Given the description of an element on the screen output the (x, y) to click on. 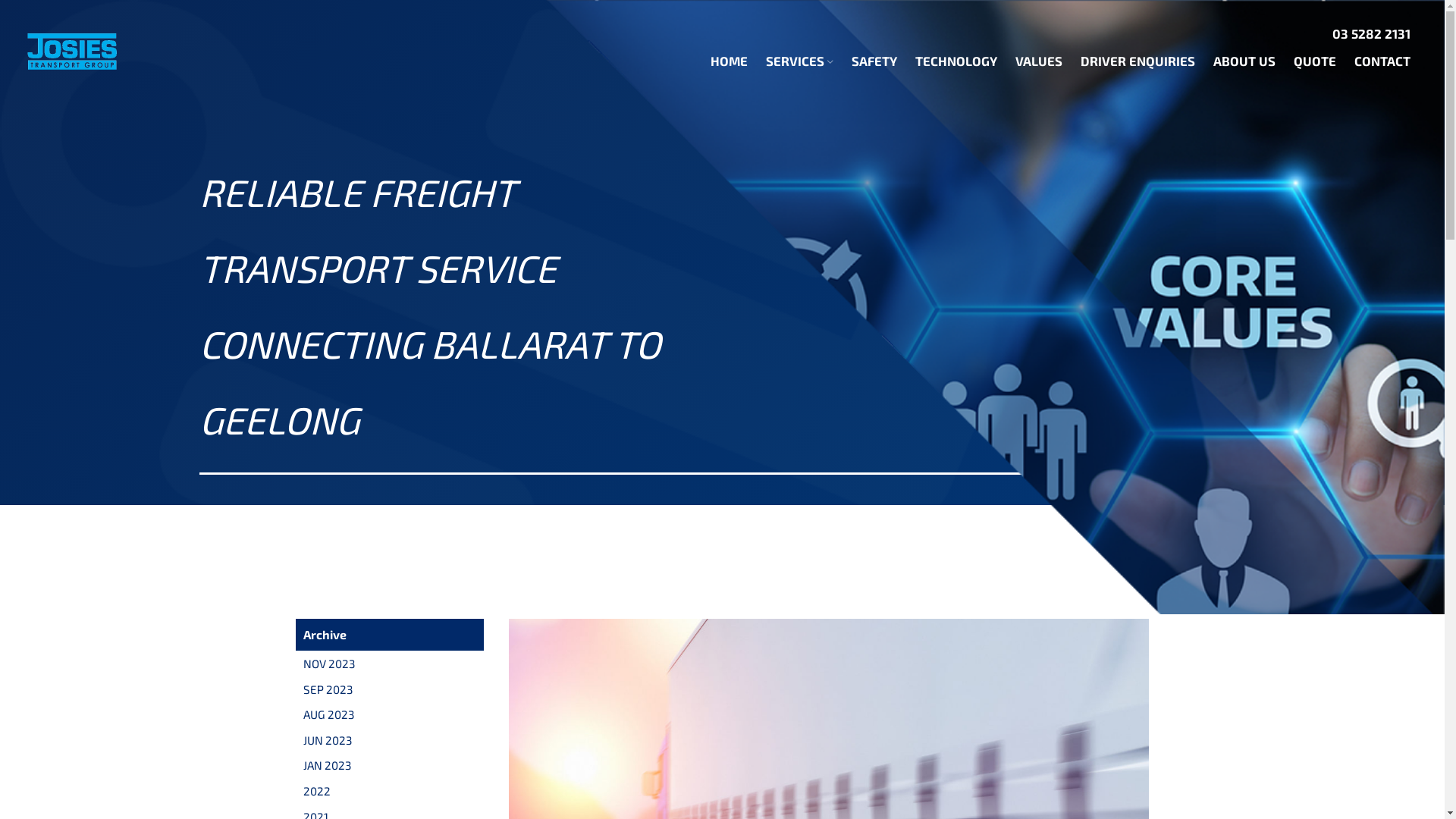
JAN 2023 Element type: text (327, 764)
ABOUT US Element type: text (1244, 60)
QUOTE Element type: text (1314, 60)
CONTACT Element type: text (1382, 60)
2022 Element type: text (316, 790)
SAFETY Element type: text (874, 60)
DRIVER ENQUIRIES Element type: text (1137, 60)
HOME Element type: text (728, 60)
VALUES Element type: text (1038, 60)
TECHNOLOGY Element type: text (956, 60)
03 5282 2131 Element type: text (1371, 33)
NOV 2023 Element type: text (328, 663)
JUN 2023 Element type: text (327, 739)
SEP 2023 Element type: text (327, 689)
AUG 2023 Element type: text (328, 714)
SERVICES Element type: text (799, 60)
